Given the description of an element on the screen output the (x, y) to click on. 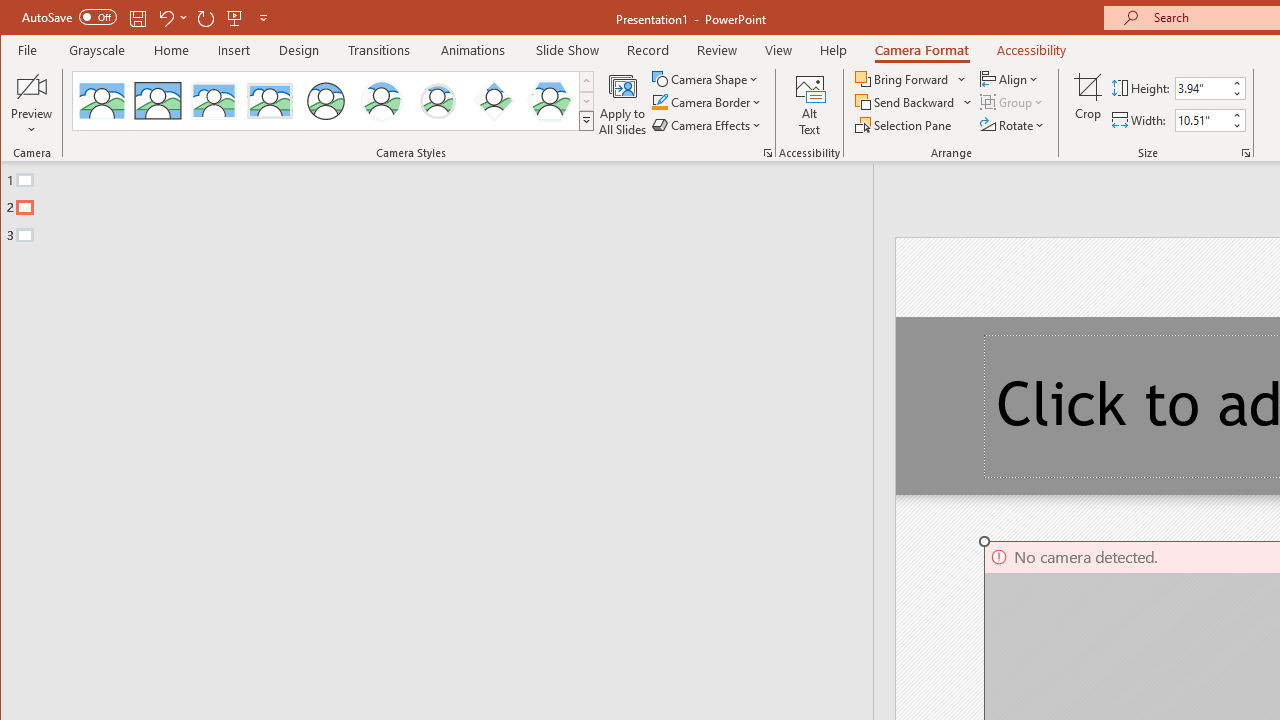
Soft Edge Circle (437, 100)
Help (833, 50)
From Beginning (235, 17)
Send Backward (914, 101)
Soft Edge Rectangle (269, 100)
No Style (102, 100)
More Options (968, 101)
Align (1010, 78)
Apply to All Slides (622, 104)
More (1236, 115)
Row Down (585, 101)
Review (717, 50)
Accessibility (1032, 50)
